Given the description of an element on the screen output the (x, y) to click on. 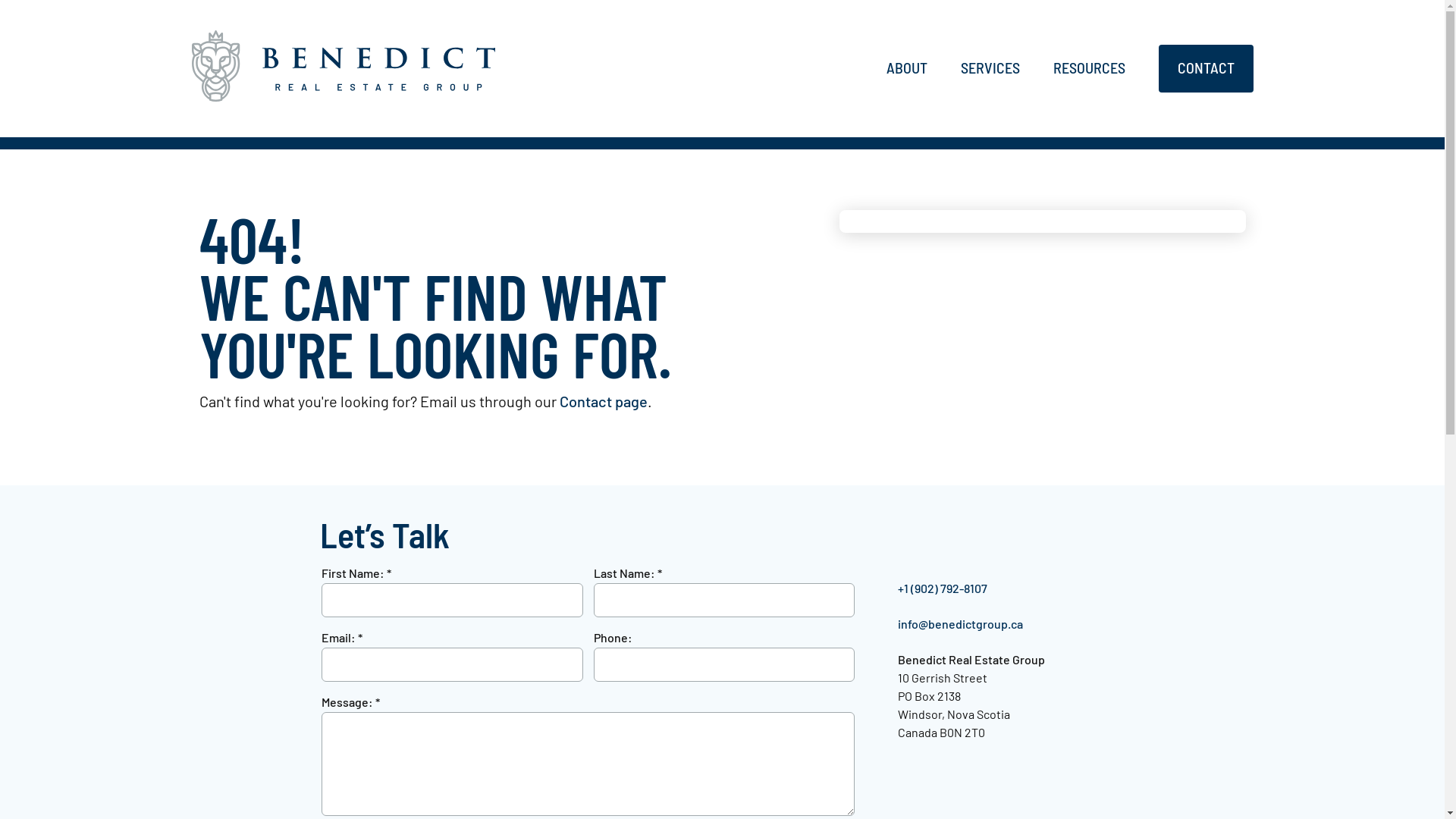
ABOUT Element type: text (905, 70)
SERVICES Element type: text (989, 70)
RESOURCES Element type: text (1088, 70)
+1 (902) 792-8107 Element type: text (942, 587)
CONTACT Element type: text (1205, 70)
Contact page Element type: text (603, 401)
info@benedictgroup.ca Element type: text (959, 623)
